Given the description of an element on the screen output the (x, y) to click on. 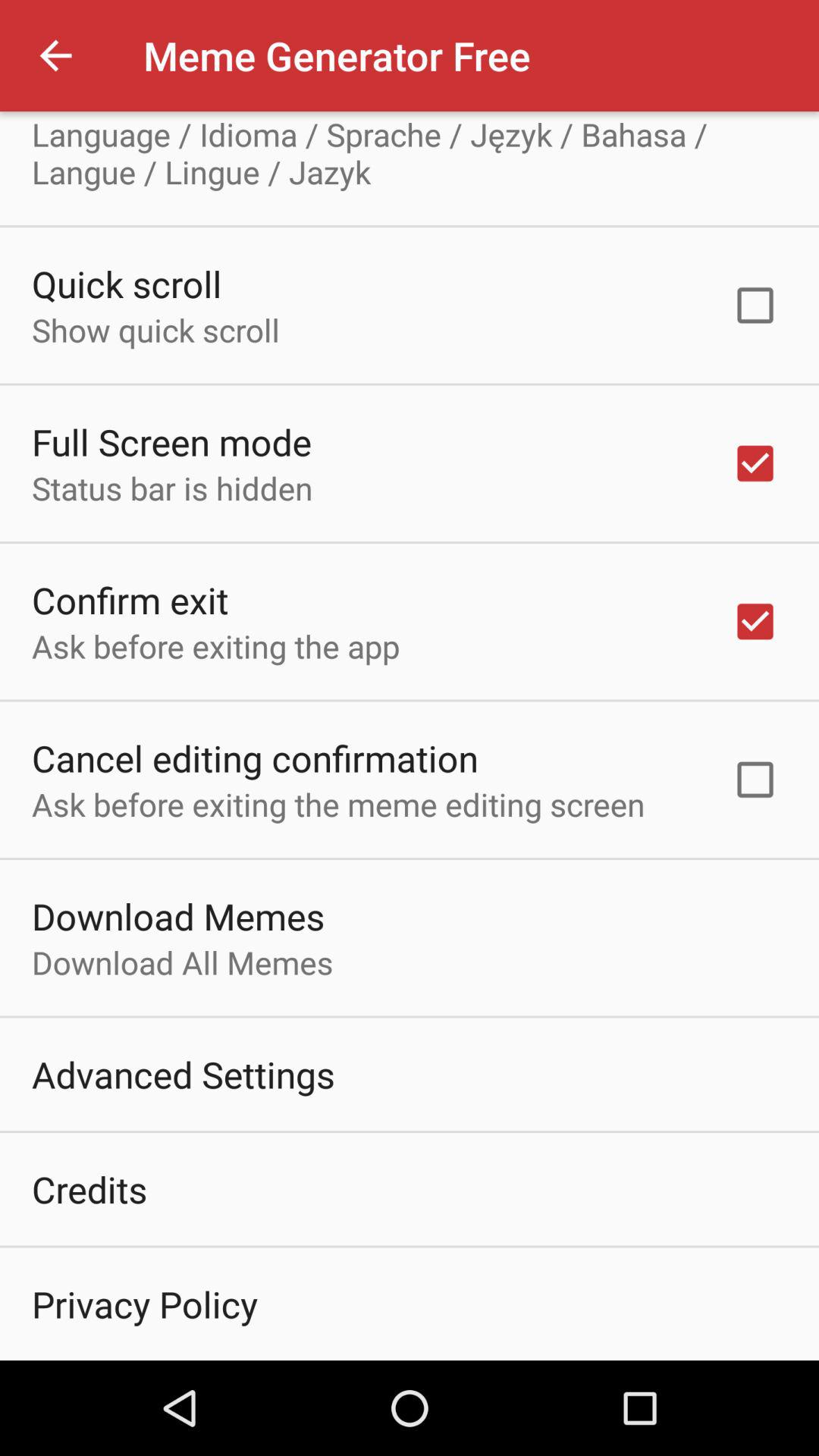
open the item below the advanced settings icon (89, 1188)
